Given the description of an element on the screen output the (x, y) to click on. 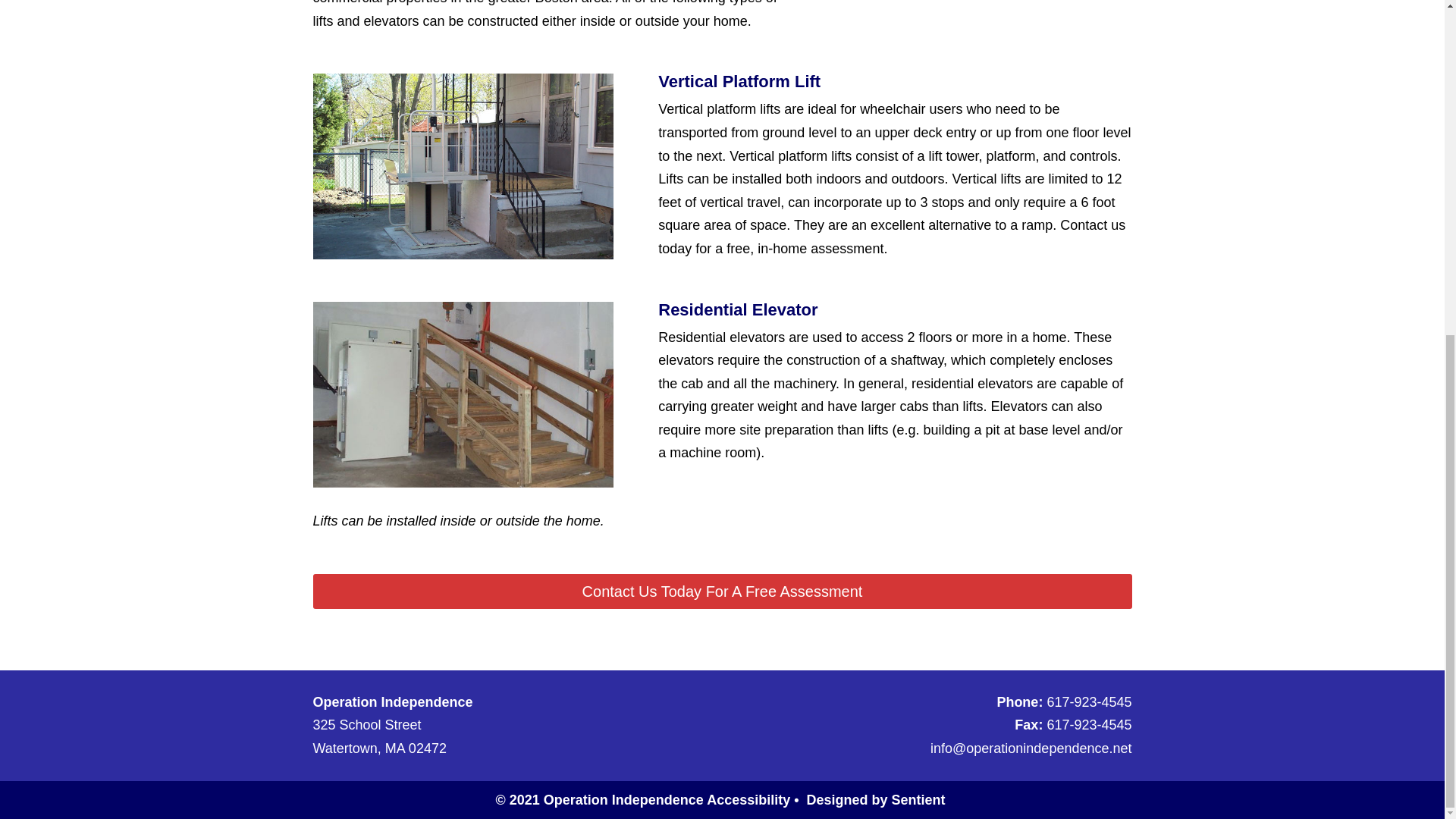
Designed by Sentient  (877, 799)
lift (462, 166)
lift (462, 394)
Contact Us Today For A Free Assessment (722, 591)
